Given the description of an element on the screen output the (x, y) to click on. 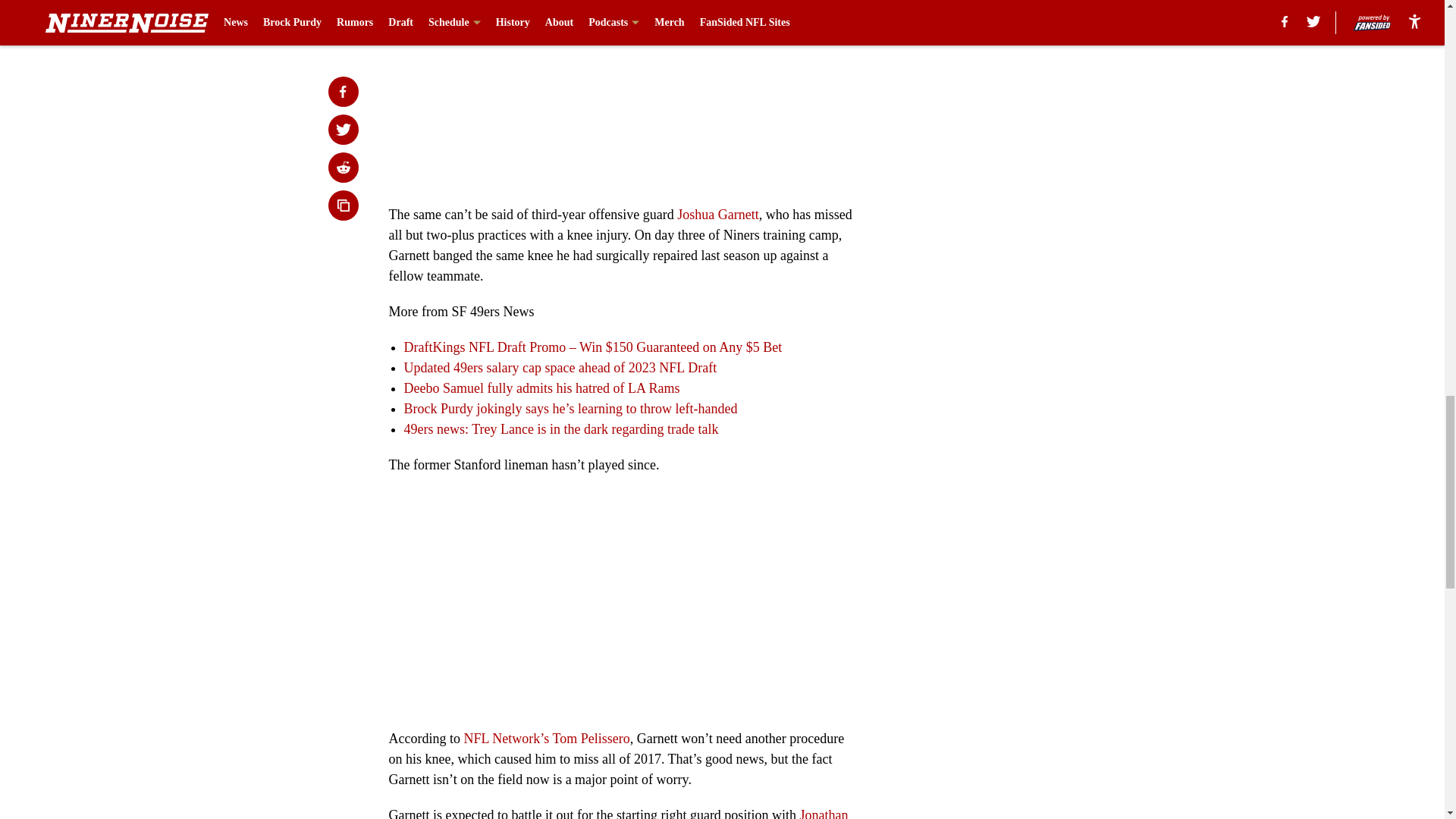
49ers news: Trey Lance is in the dark regarding trade talk (560, 428)
Jonathan Cooper (617, 813)
Joshua Garnett (717, 214)
Updated 49ers salary cap space ahead of 2023 NFL Draft (559, 367)
Deebo Samuel fully admits his hatred of LA Rams (541, 387)
